Given the description of an element on the screen output the (x, y) to click on. 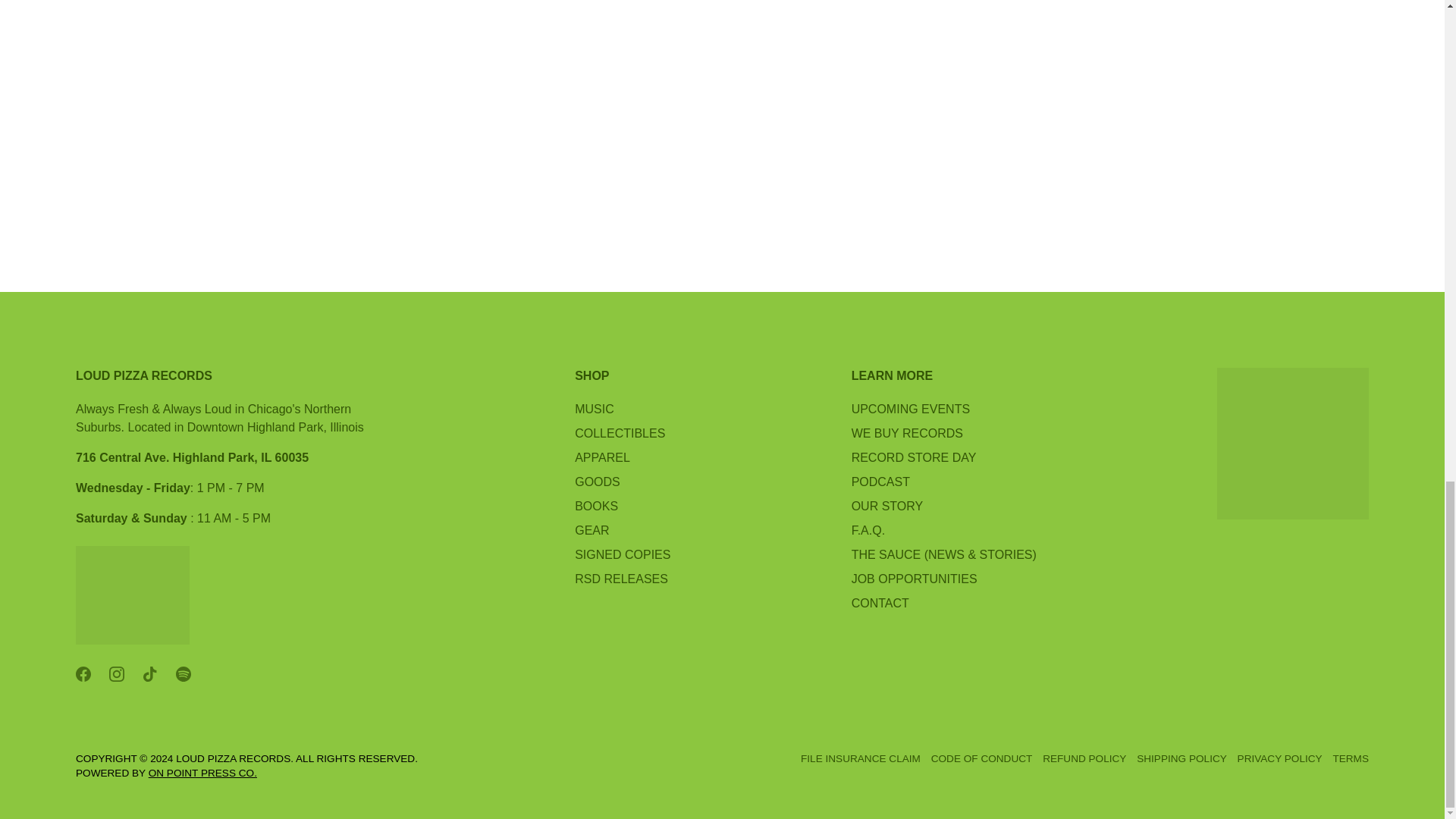
Instagram (116, 673)
